Given the description of an element on the screen output the (x, y) to click on. 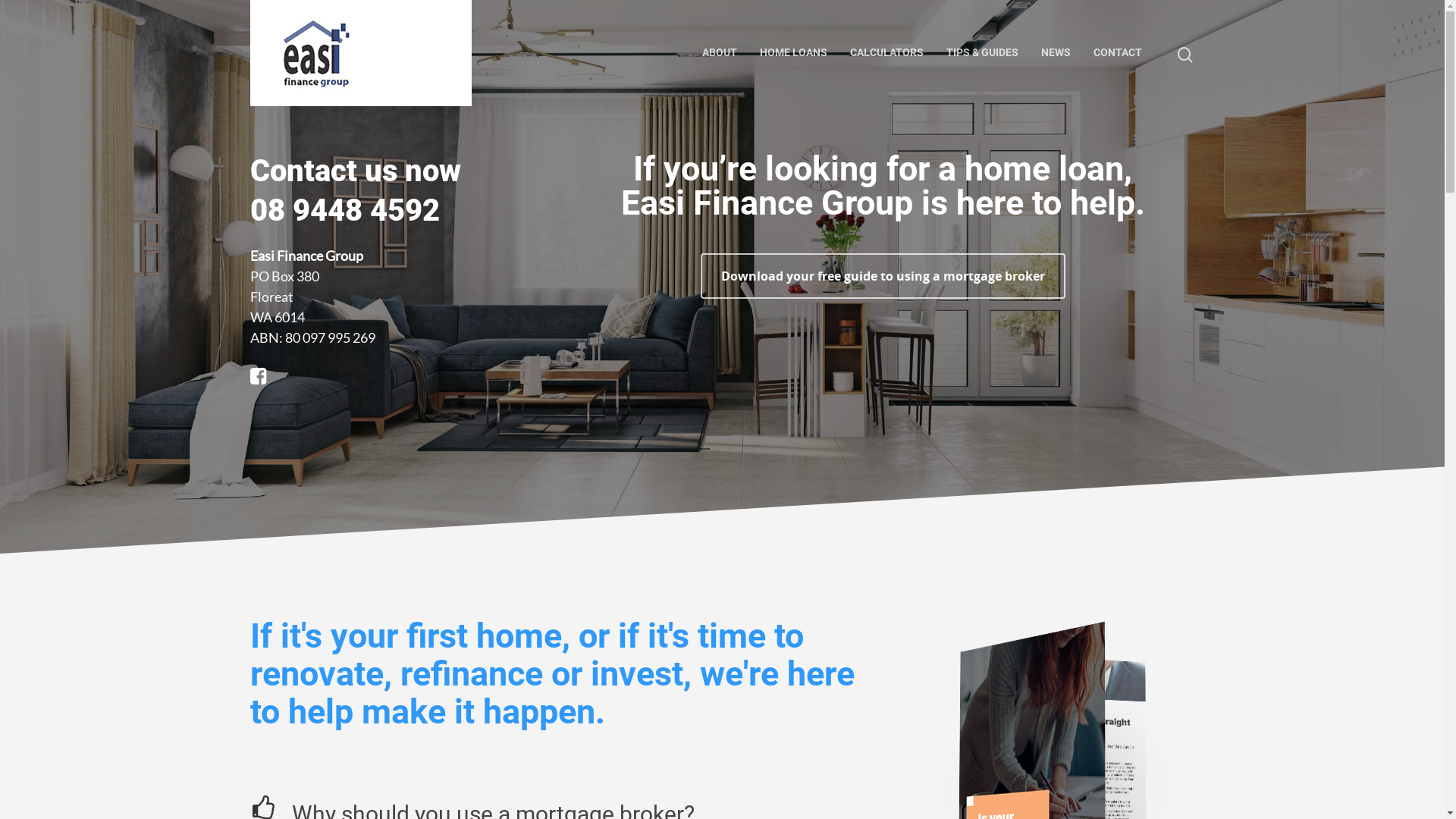
HOME LOANS Element type: text (793, 52)
Download your free guide to using a mortgage broker Element type: text (882, 275)
TIPS & GUIDES Element type: text (982, 52)
08 9448 4592 Element type: text (344, 210)
ABOUT Element type: text (719, 52)
NEWS Element type: text (1055, 52)
CALCULATORS Element type: text (886, 52)
CONTACT Element type: text (1117, 52)
